Given the description of an element on the screen output the (x, y) to click on. 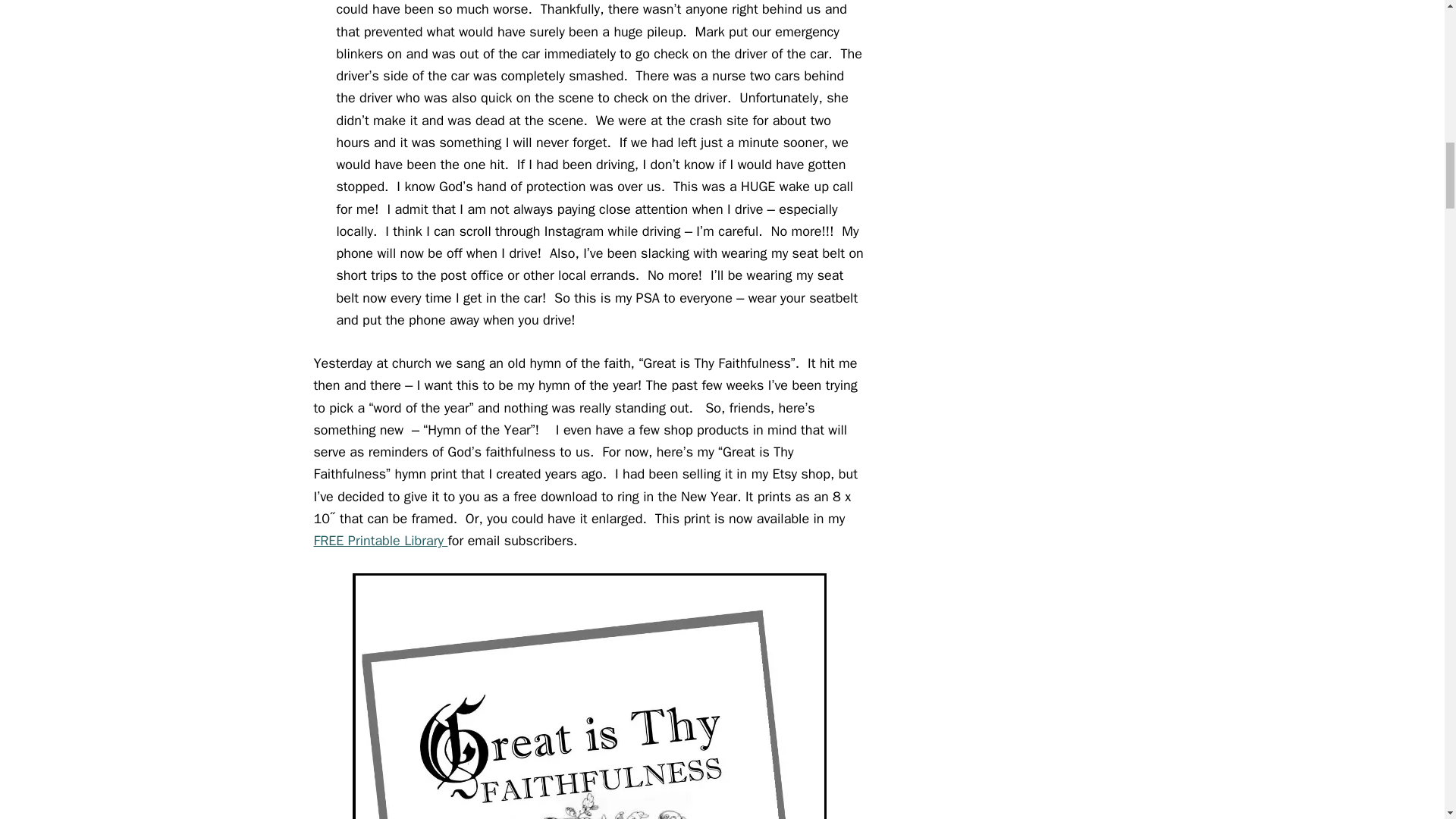
FREE Printable Library (381, 540)
